Given the description of an element on the screen output the (x, y) to click on. 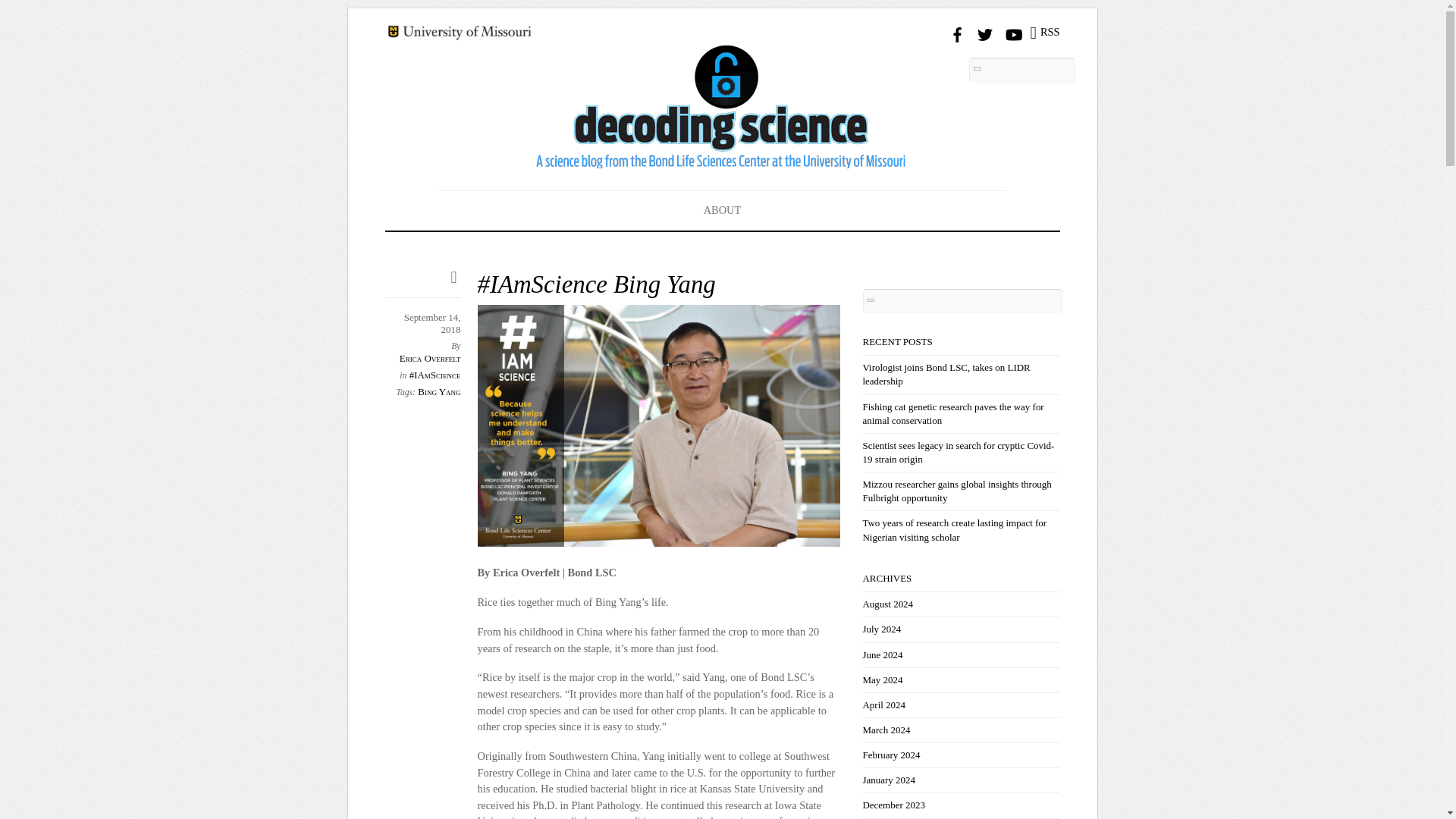
Decoding Science (721, 153)
May 2024 (882, 679)
December 2023 (893, 804)
February 2024 (891, 754)
Search (1022, 69)
March 2024 (887, 729)
June 2024 (882, 654)
Erica Overfelt (429, 357)
April 2024 (884, 704)
